Given the description of an element on the screen output the (x, y) to click on. 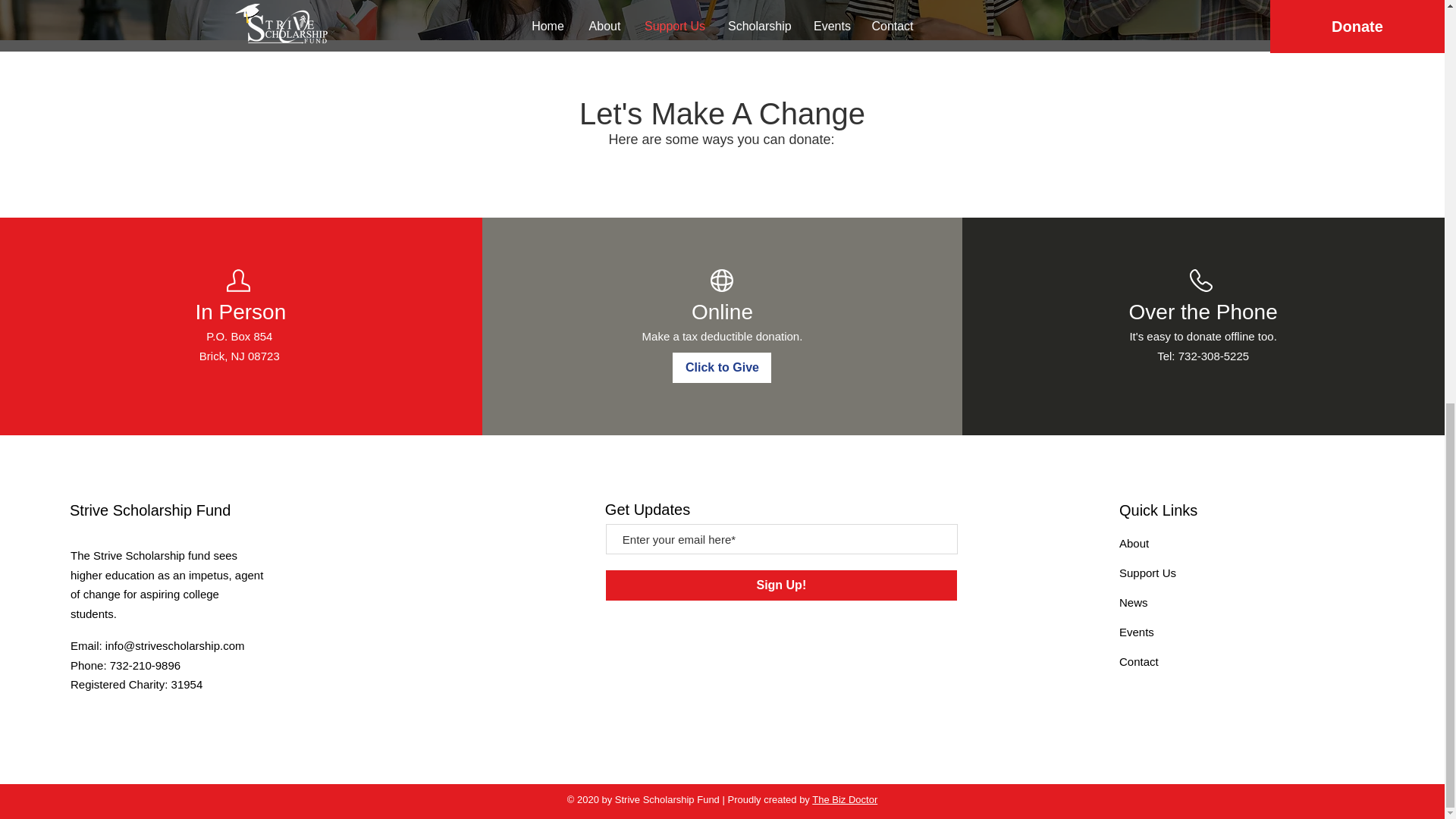
The Biz Doctor (844, 799)
News (1133, 602)
About (1133, 543)
Support Us (1147, 572)
Sign Up! (780, 585)
Events (1136, 631)
Contact (1138, 661)
Click to Give (721, 367)
